Given the description of an element on the screen output the (x, y) to click on. 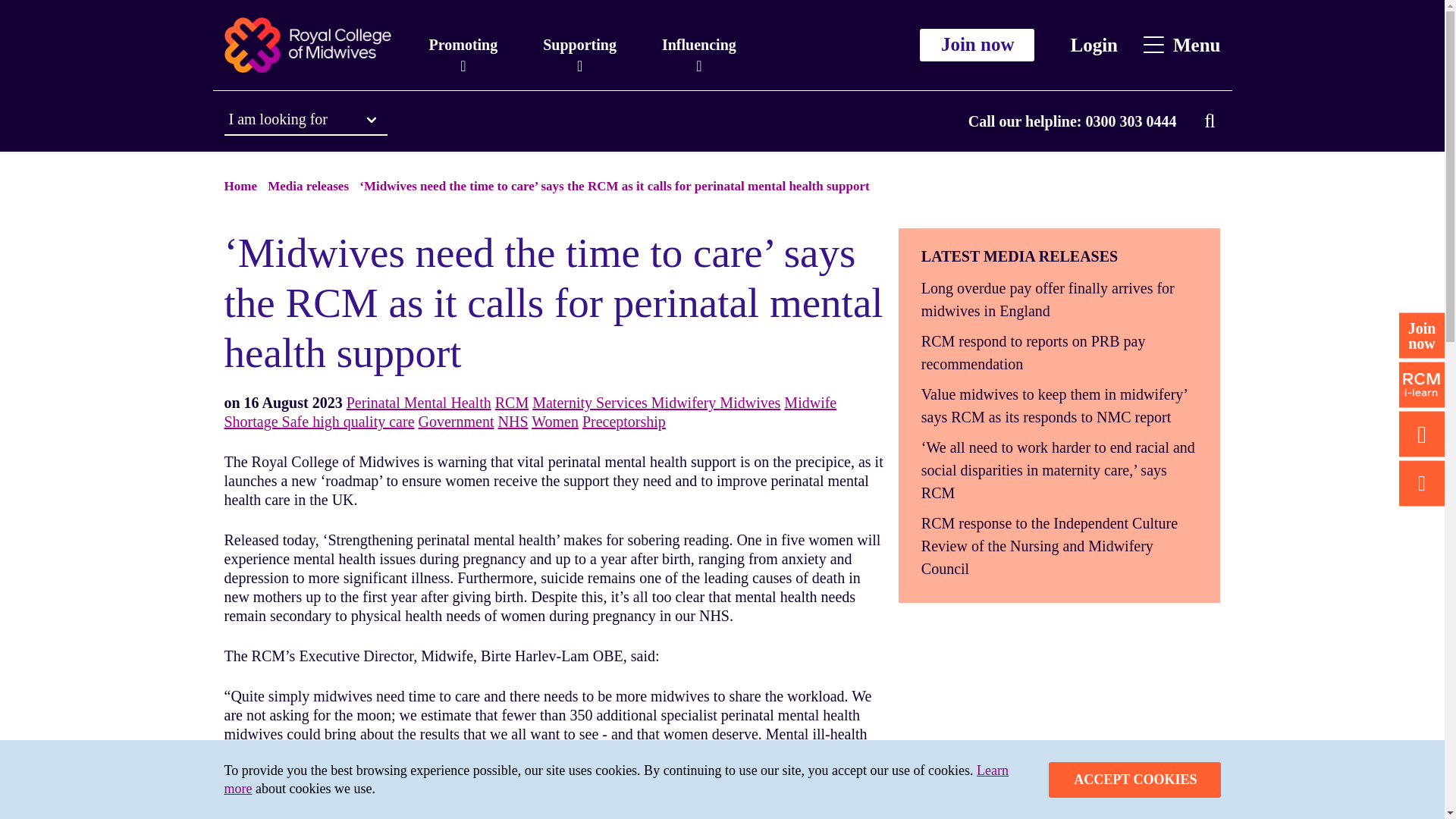
Influencing (698, 45)
Promoting (463, 45)
Supporting (579, 45)
Supporting (579, 45)
Promoting (463, 45)
